Given the description of an element on the screen output the (x, y) to click on. 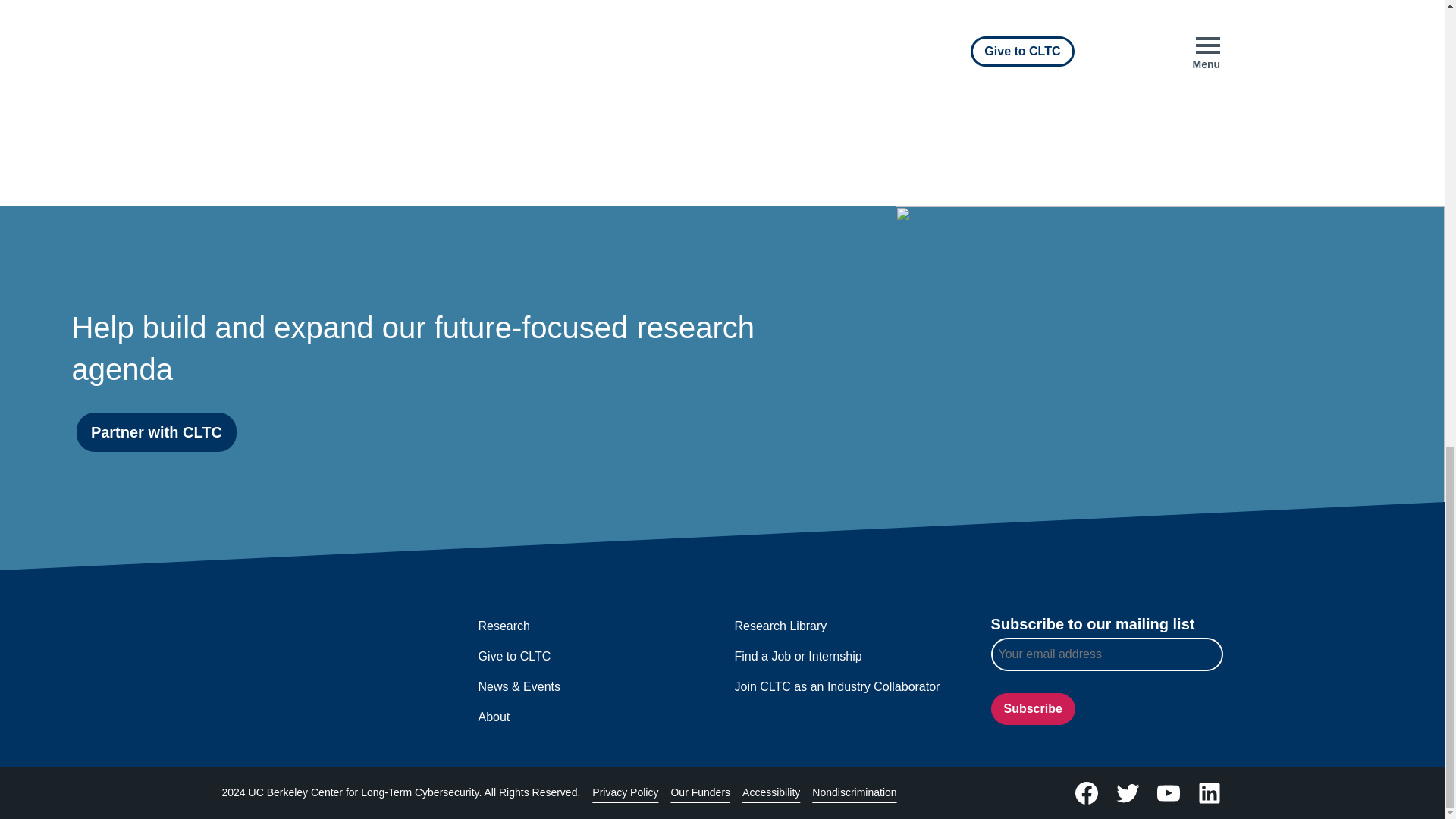
Partner with CLTC (156, 432)
Research (503, 627)
Give to CLTC (513, 658)
Subscribe (1032, 708)
